Given the description of an element on the screen output the (x, y) to click on. 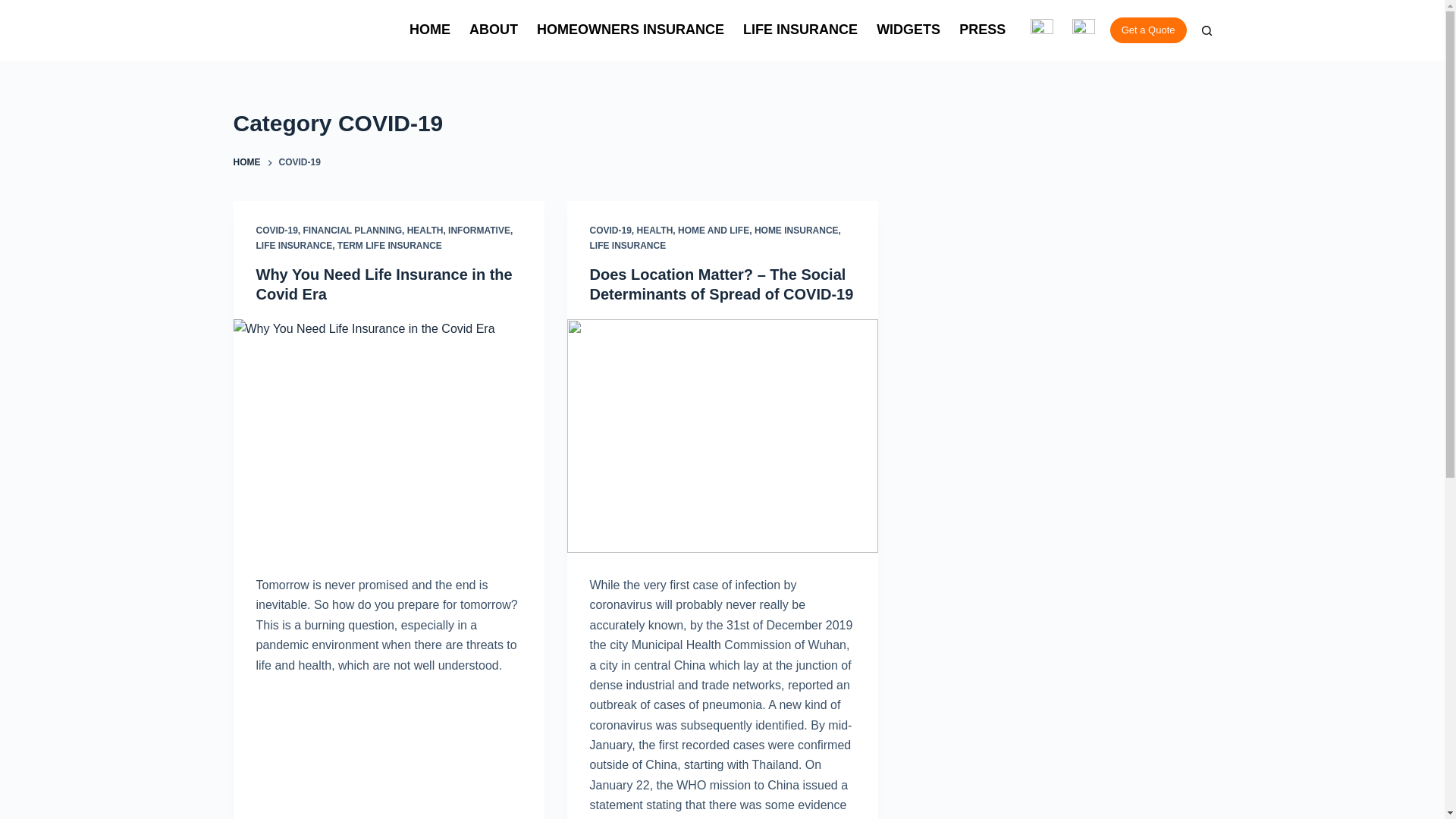
INFORMATIVE (479, 230)
Skip to content (15, 7)
Why You Need Life Insurance in the Covid Era (384, 284)
PRESS (982, 30)
HEALTH (425, 230)
HOMEOWNERS INSURANCE (630, 30)
Get a Quote (1147, 30)
LIFE INSURANCE (800, 30)
COVID-19 (610, 230)
TERM LIFE INSURANCE (389, 245)
HEALTH (654, 230)
HOME (430, 30)
COVID-19 (277, 230)
LIFE INSURANCE (294, 245)
FINANCIAL PLANNING (351, 230)
